Given the description of an element on the screen output the (x, y) to click on. 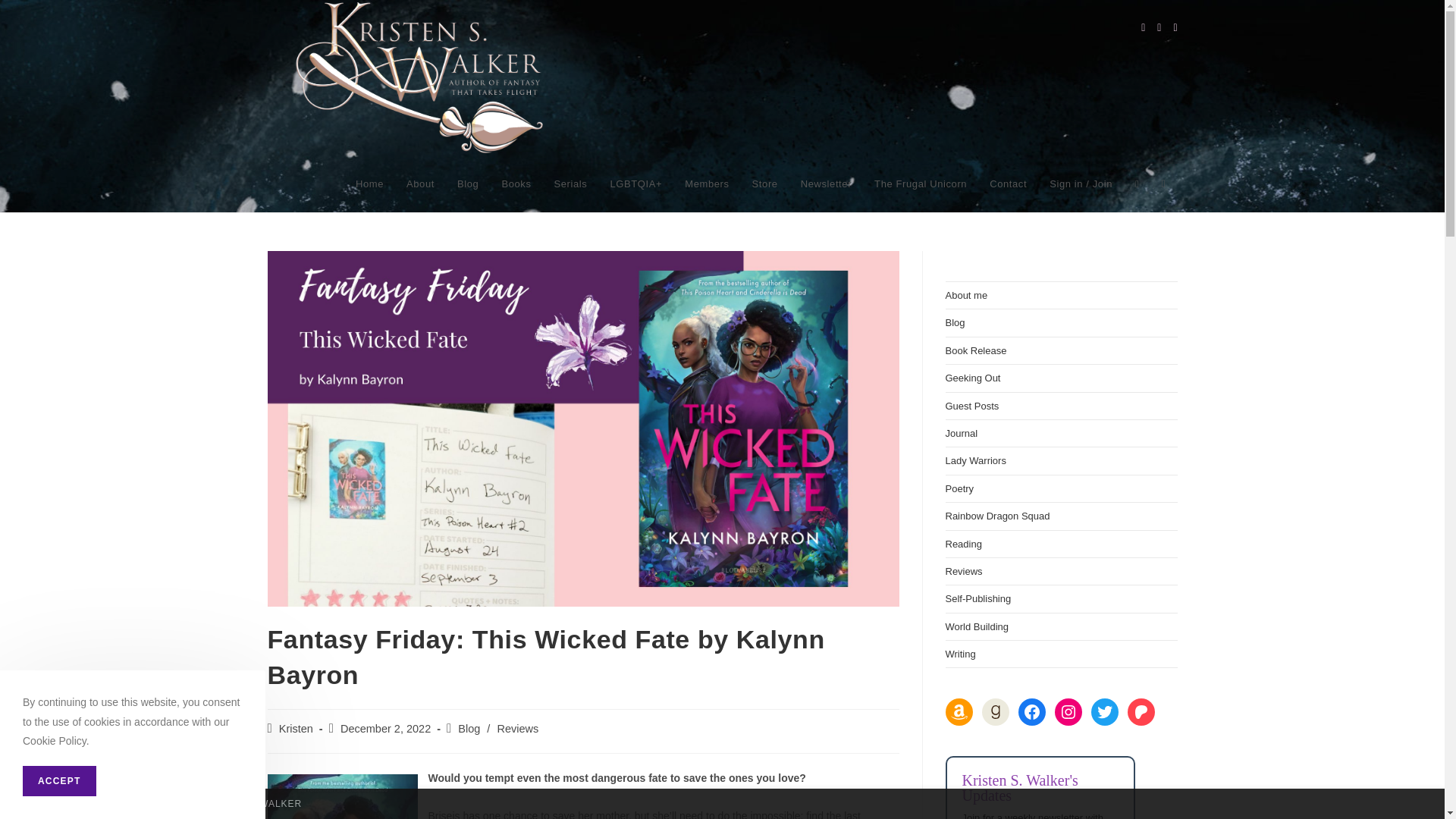
Members (705, 184)
Kristen (296, 728)
Home (368, 184)
About (419, 184)
Newsletter (826, 184)
Books (515, 184)
Contact (1008, 184)
The Frugal Unicorn (920, 184)
Serials (570, 184)
Posts by Kristen (296, 728)
